Given the description of an element on the screen output the (x, y) to click on. 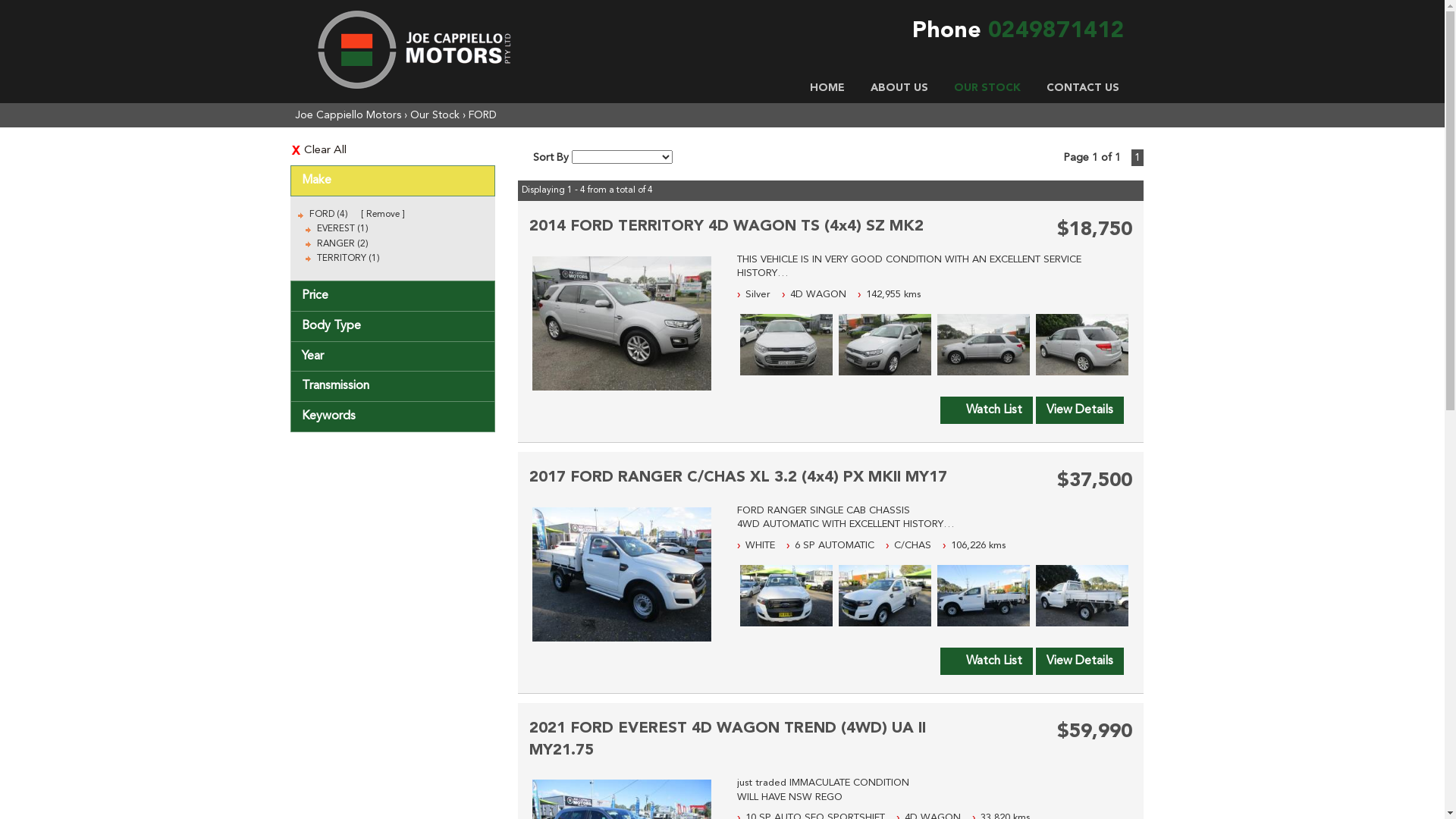
Remove Element type: text (381, 214)
2014 FORD TERRITORY 4D WAGON TS (4x4) SZ MK2 Element type: text (726, 226)
CONTACT US Element type: text (1081, 87)
0249871412 Element type: text (1055, 30)
Watch List Element type: text (986, 660)
$18,750 Element type: text (1094, 229)
$37,500 Element type: text (1094, 480)
FORD Element type: text (482, 114)
View Details Element type: text (1079, 660)
View Details Element type: text (1079, 409)
1 Element type: text (1137, 157)
HOME Element type: text (826, 87)
$59,990 Element type: text (1094, 731)
ABOUT US Element type: text (898, 87)
Watch List Element type: text (986, 409)
TERRITORY (1) Element type: text (347, 258)
EVEREST (1) Element type: text (342, 228)
2017 FORD RANGER C/CHAS XL 3.2 (4x4) PX MKII MY17 Element type: text (738, 477)
OUR STOCK Element type: text (986, 87)
Joe Cappiello Motors Element type: text (347, 114)
2021 FORD EVEREST 4D WAGON TREND (4WD) UA II MY21.75 Element type: text (727, 739)
Clear All Element type: text (391, 150)
RANGER (2) Element type: text (342, 243)
Our Stock Element type: text (433, 114)
